Given the description of an element on the screen output the (x, y) to click on. 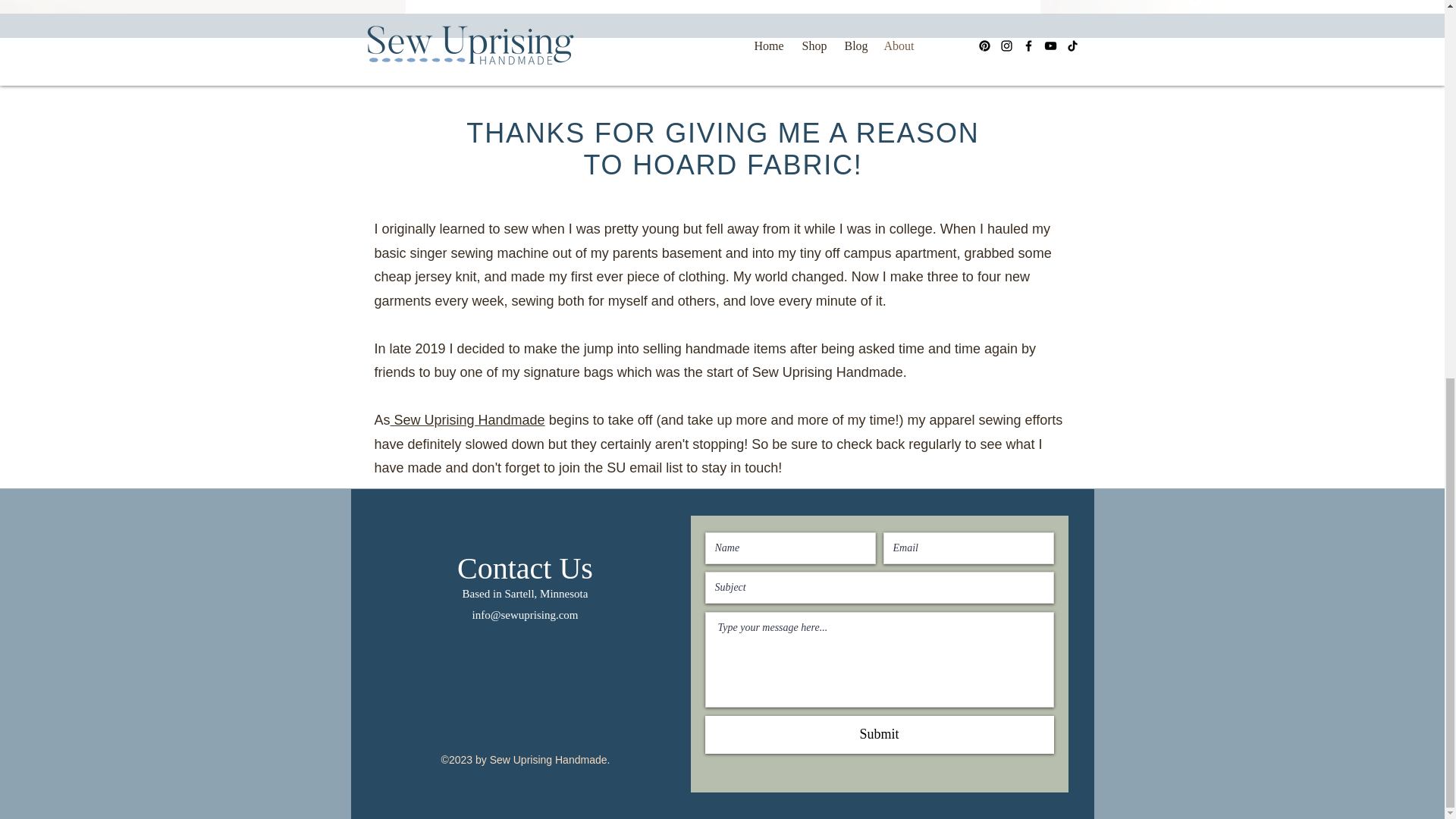
Sew Uprising Handmade (467, 419)
Submit (879, 733)
